Given the description of an element on the screen output the (x, y) to click on. 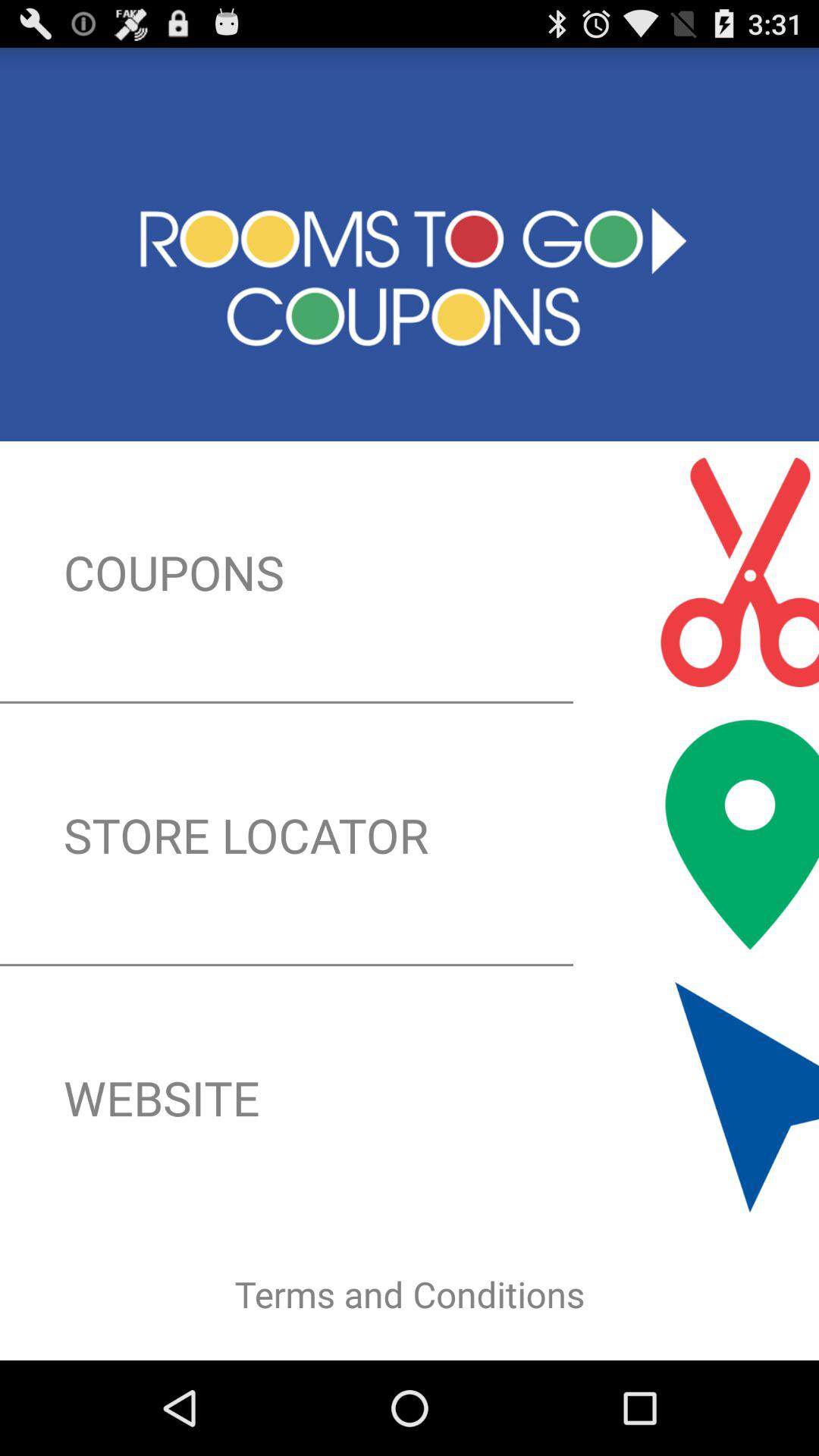
select button below website item (409, 1294)
